Given the description of an element on the screen output the (x, y) to click on. 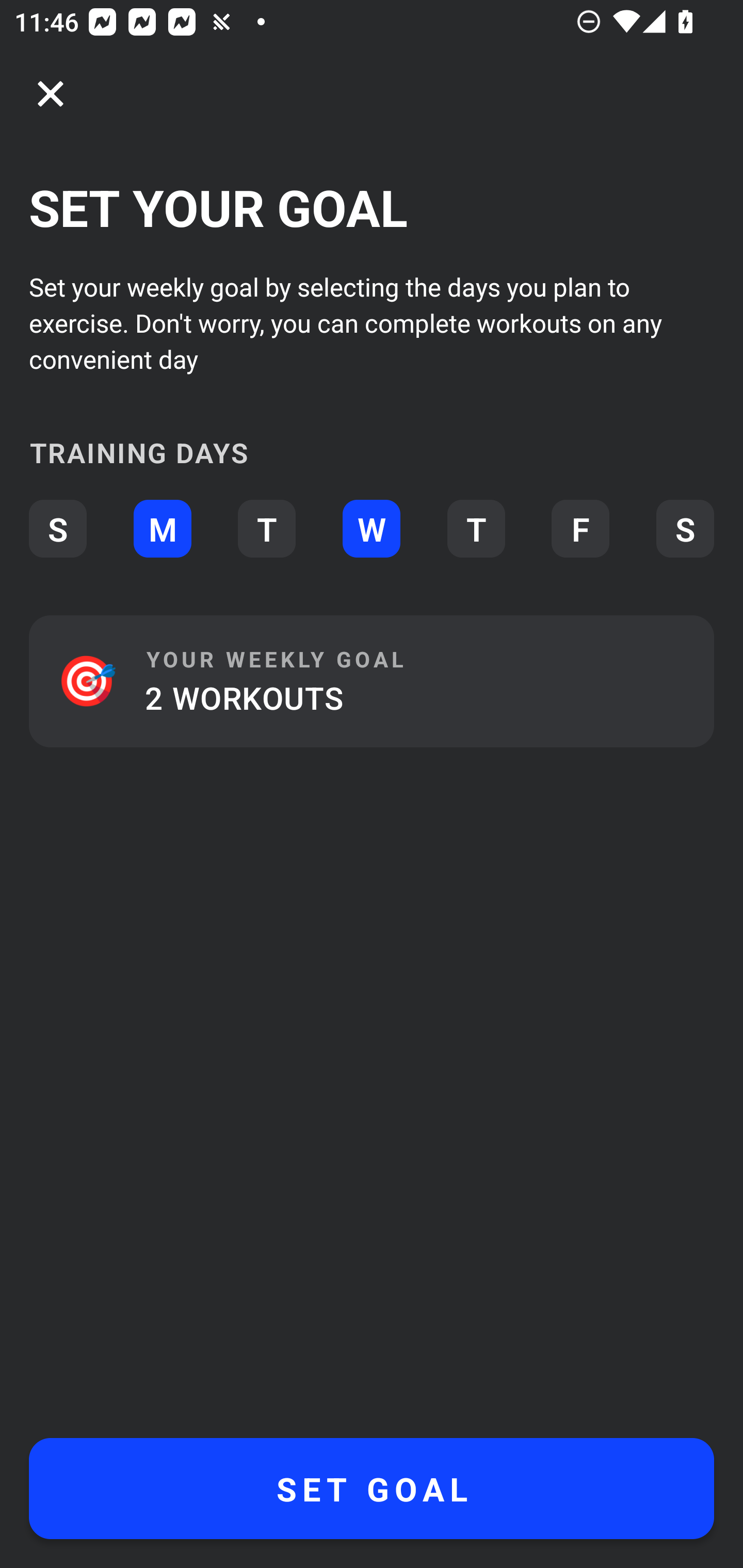
Back Icon (50, 93)
S (57, 529)
M (161, 529)
T (266, 529)
W (371, 529)
T (476, 529)
F (580, 529)
S (684, 529)
SET GOAL (371, 1488)
